Given the description of an element on the screen output the (x, y) to click on. 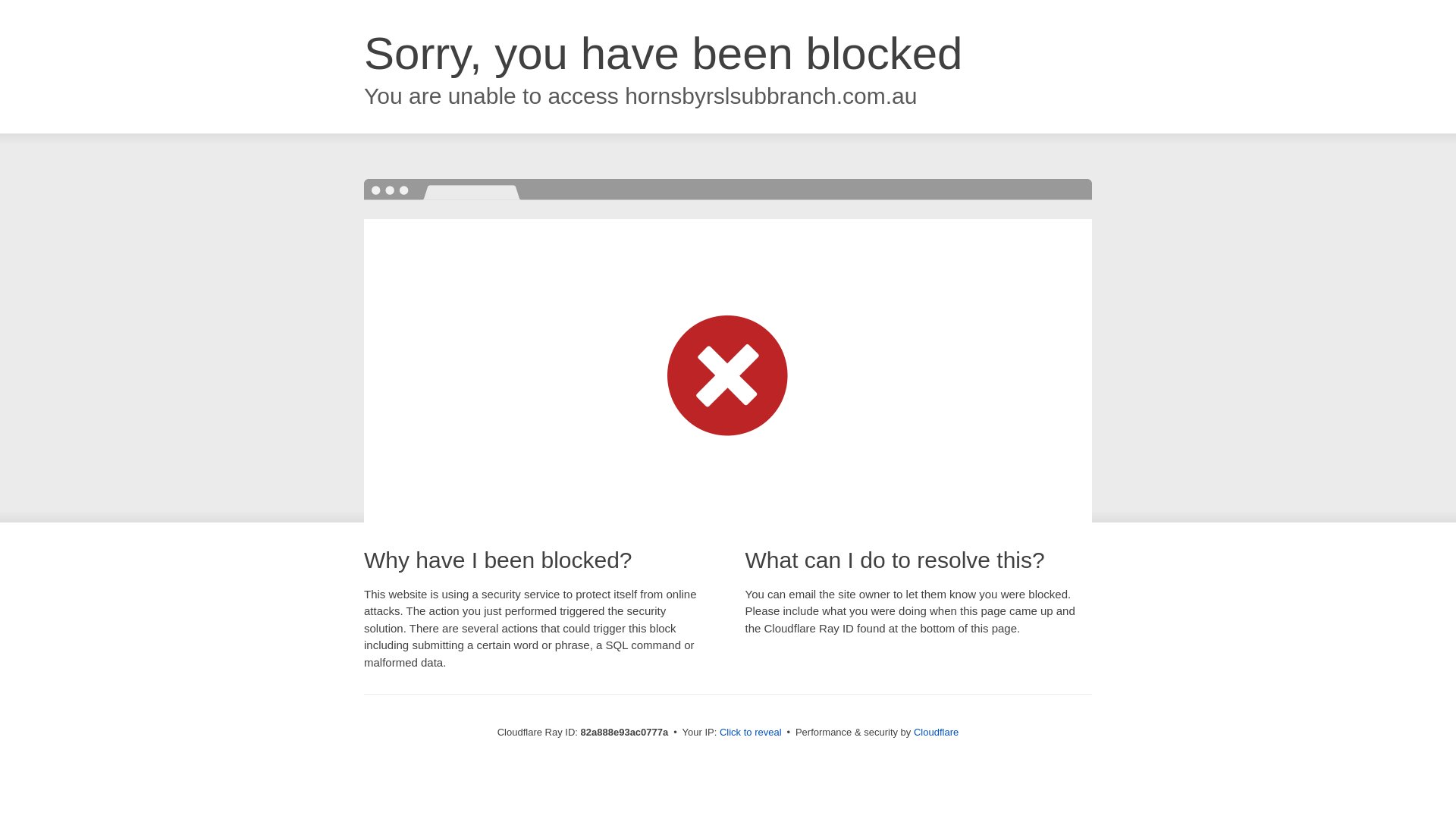
Click to reveal Element type: text (750, 732)
Cloudflare Element type: text (935, 731)
